Given the description of an element on the screen output the (x, y) to click on. 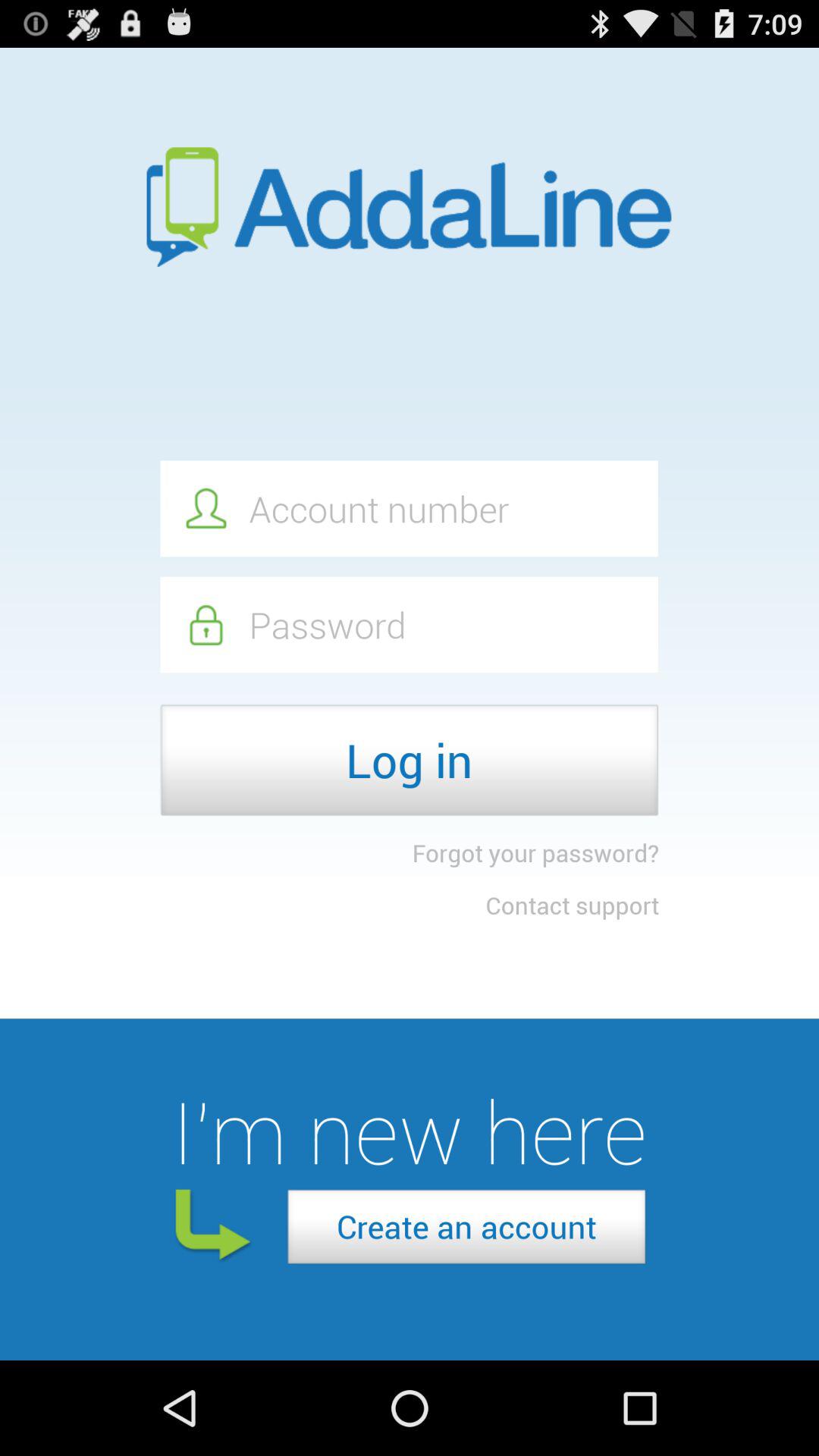
account number text box (409, 508)
